Given the description of an element on the screen output the (x, y) to click on. 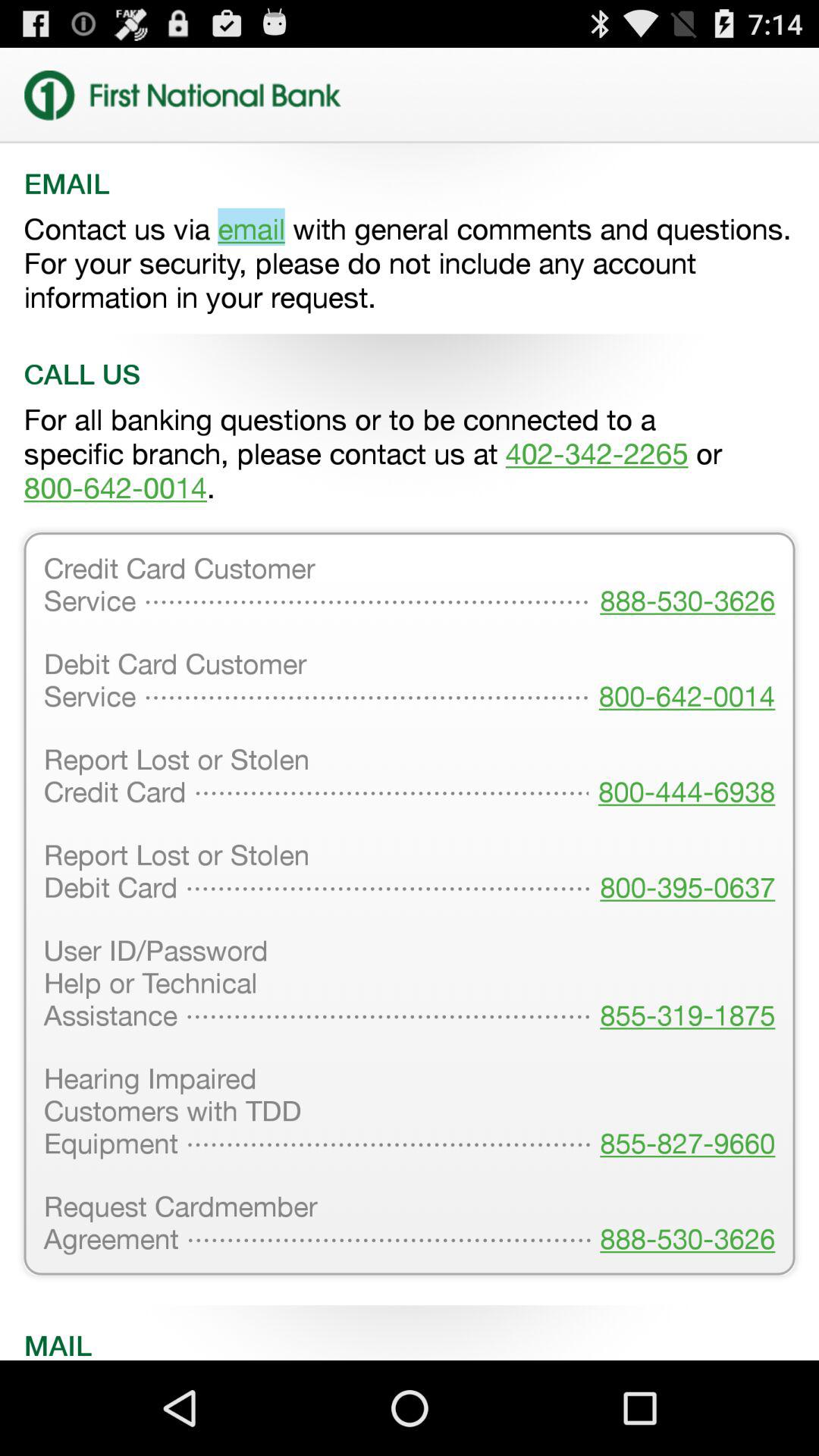
swipe to 855-827-9660 icon (682, 1112)
